Given the description of an element on the screen output the (x, y) to click on. 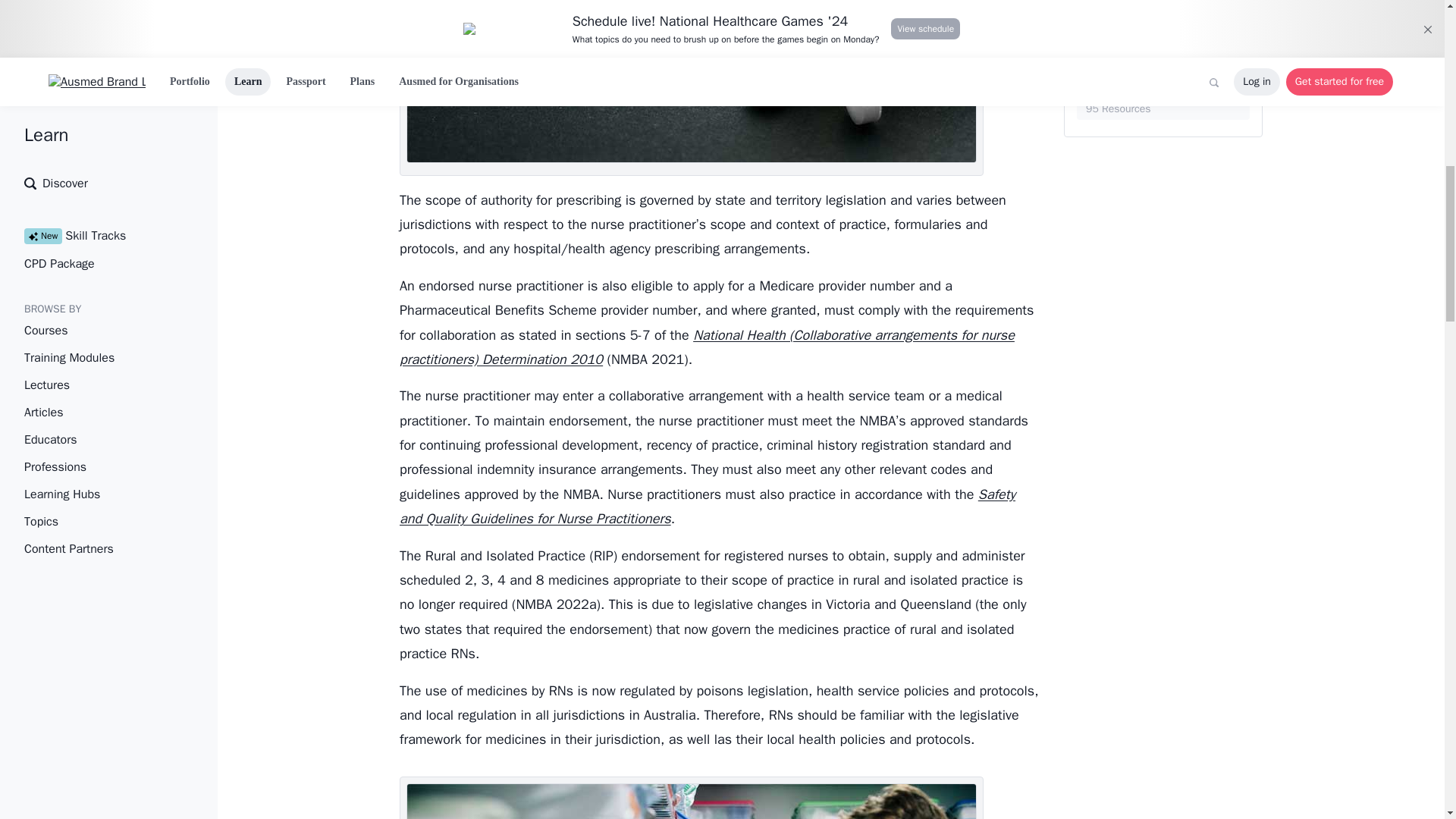
Safety and Quality Guidelines for Nurse Practitioners (706, 506)
